Given the description of an element on the screen output the (x, y) to click on. 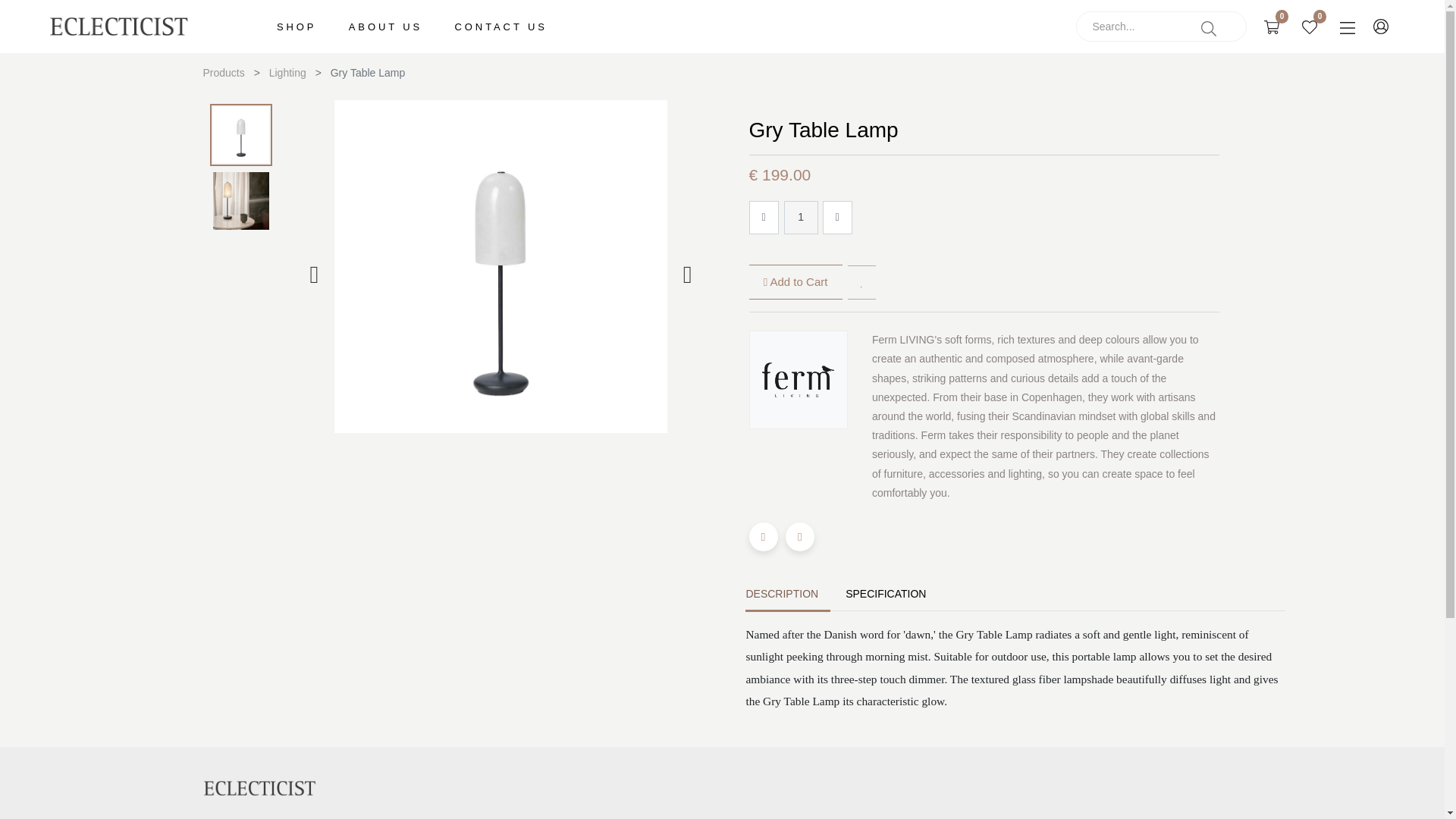
Search (1208, 26)
1 (801, 216)
0 (1277, 26)
ABOUT US (385, 22)
SHOP (295, 22)
CONTACT US (500, 22)
0 (1315, 26)
Eclecticist (119, 26)
